Given the description of an element on the screen output the (x, y) to click on. 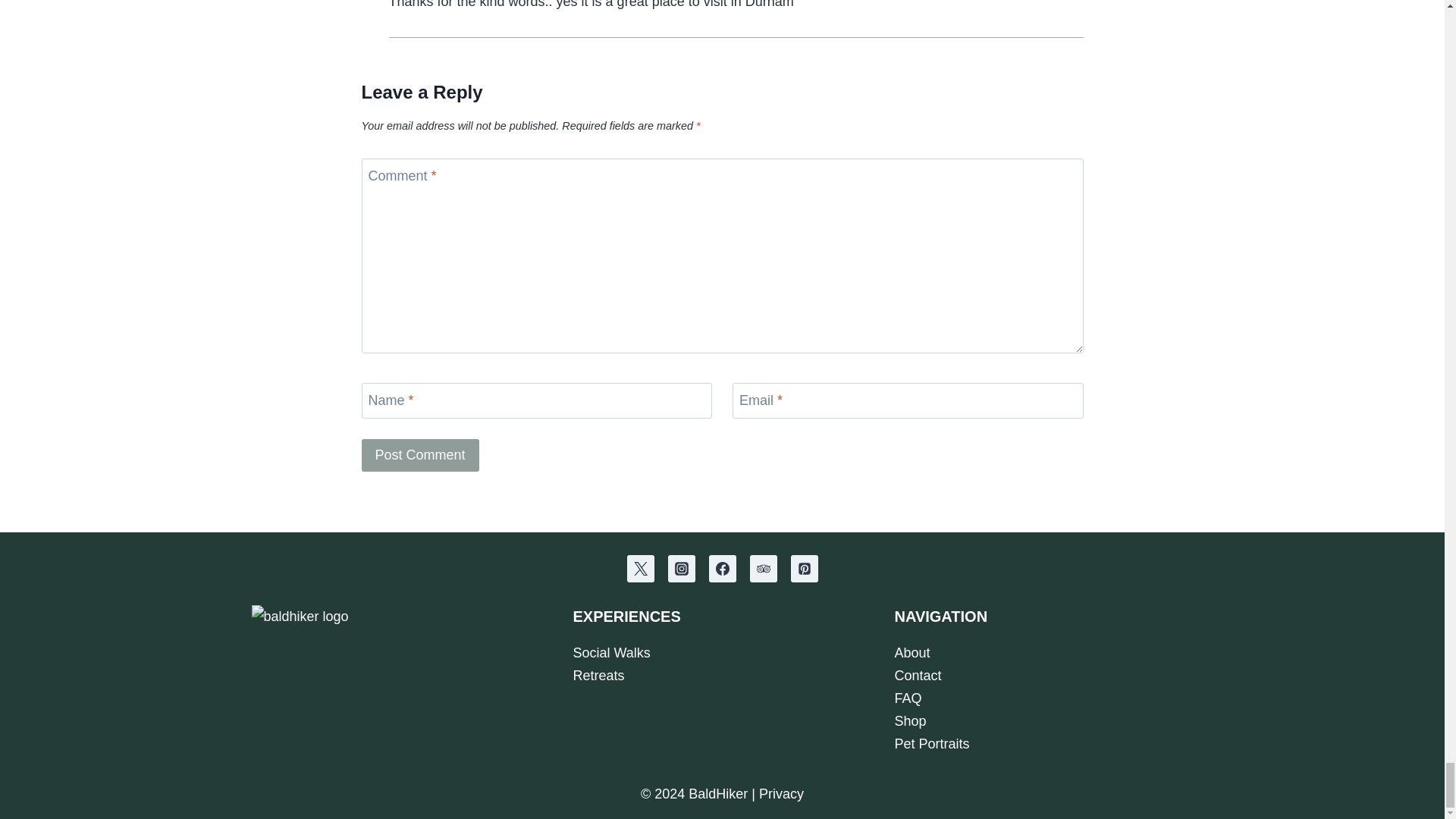
Post Comment (420, 454)
